Given the description of an element on the screen output the (x, y) to click on. 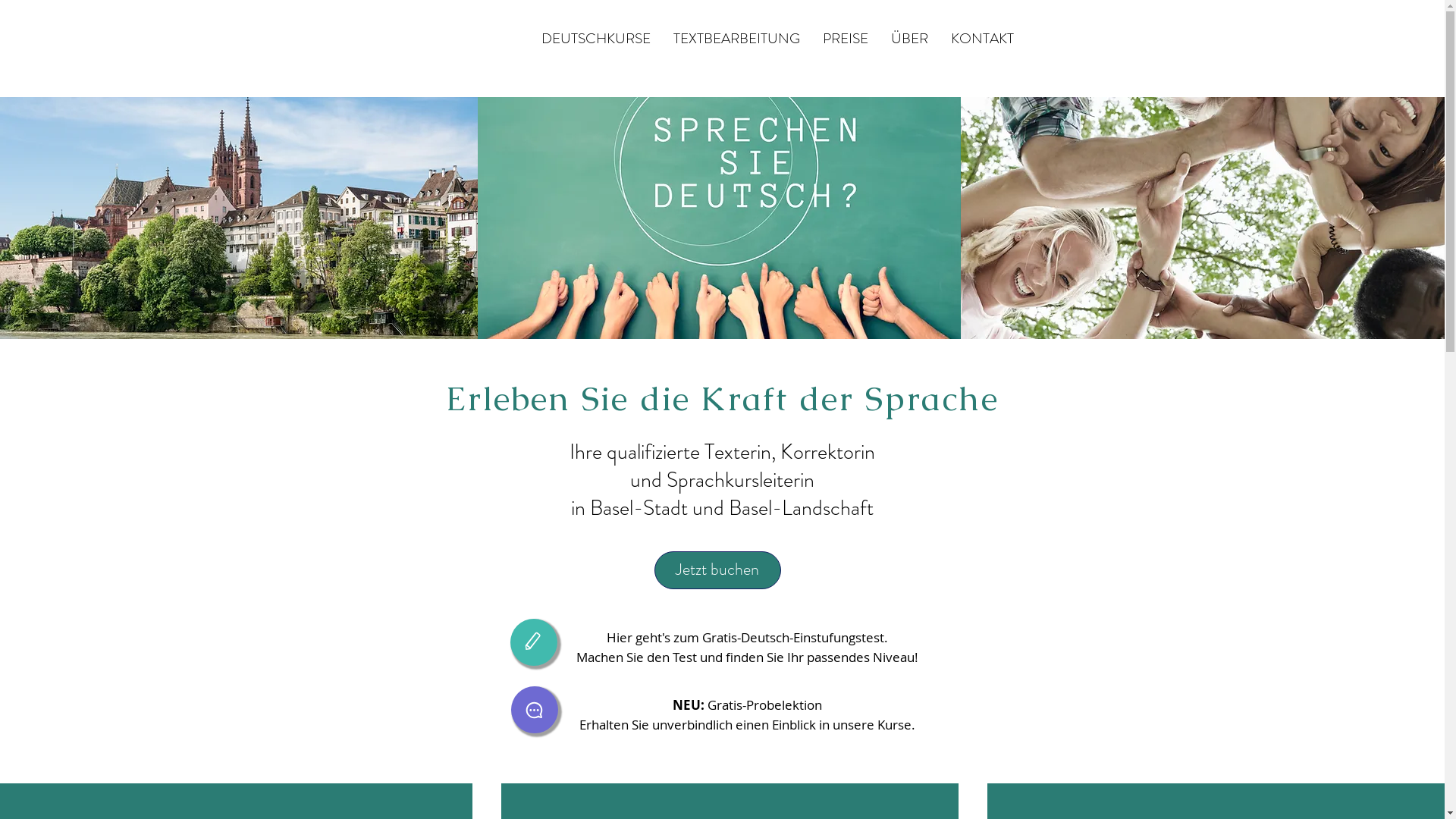
DEUTSCHKURSE Element type: text (595, 38)
Jetzt buchen Element type: text (716, 570)
PREISE Element type: text (845, 38)
TEXTBEARBEITUNG Element type: text (735, 38)
KONTAKT Element type: text (981, 38)
